Given the description of an element on the screen output the (x, y) to click on. 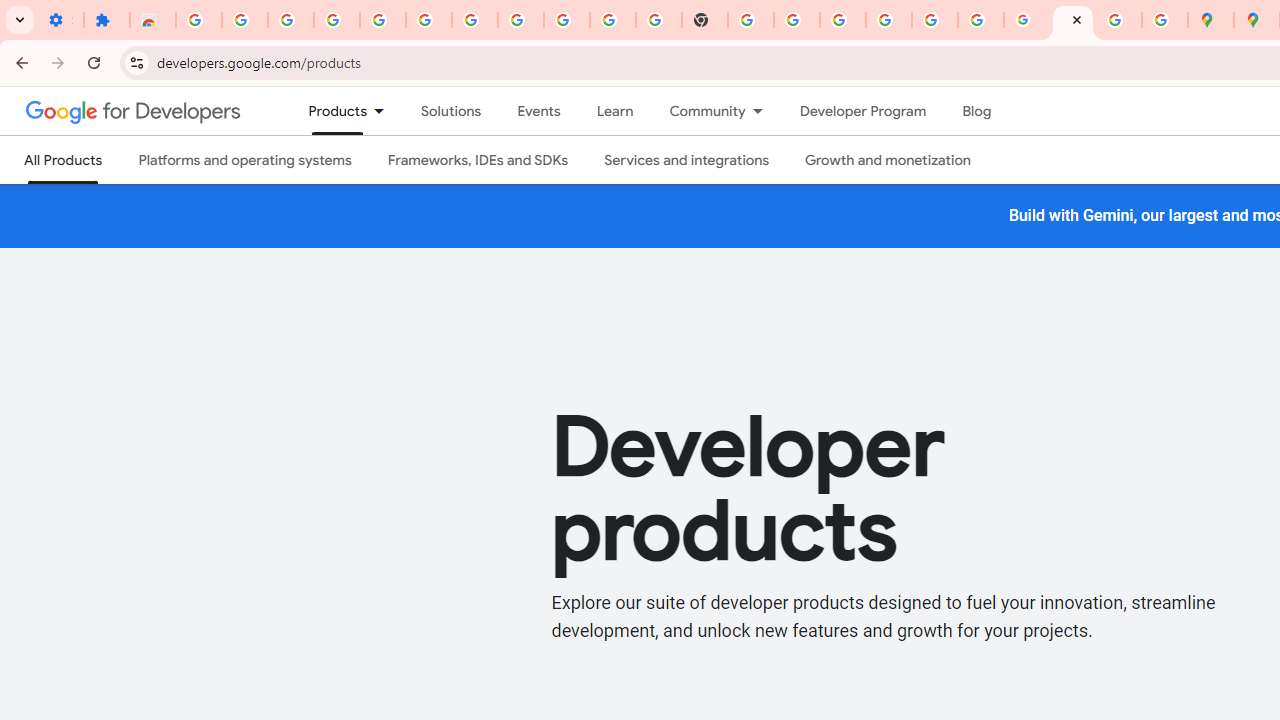
Google Account (567, 20)
Dropdown menu for Products (385, 111)
YouTube (613, 20)
Community (698, 111)
Developer Program (862, 111)
Products, selected (329, 111)
Platforms and operating systems (244, 160)
Developer products - Google for Developers (1072, 20)
Learn how to find your photos - Google Photos Help (382, 20)
